Given the description of an element on the screen output the (x, y) to click on. 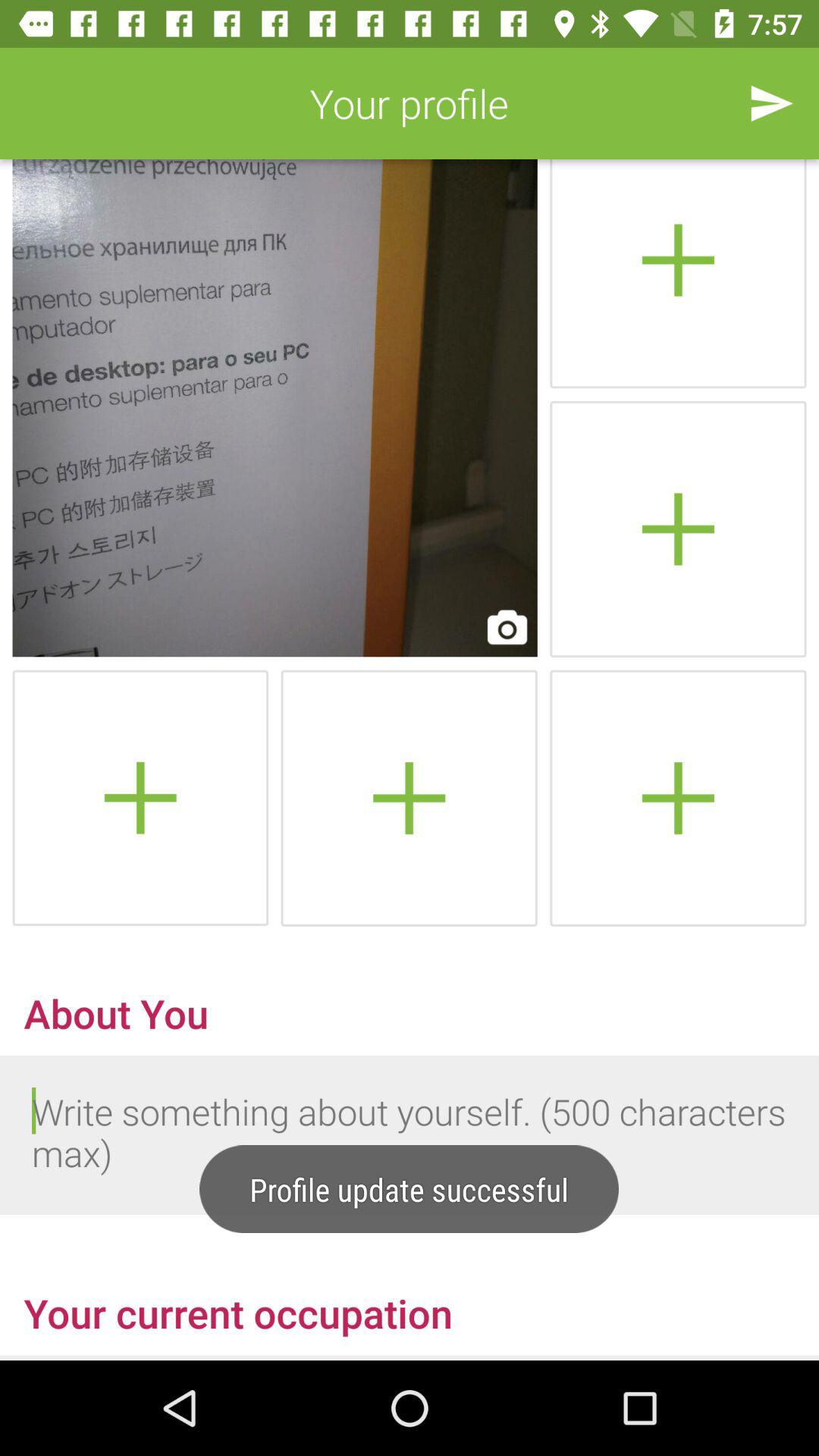
add image (140, 797)
